Given the description of an element on the screen output the (x, y) to click on. 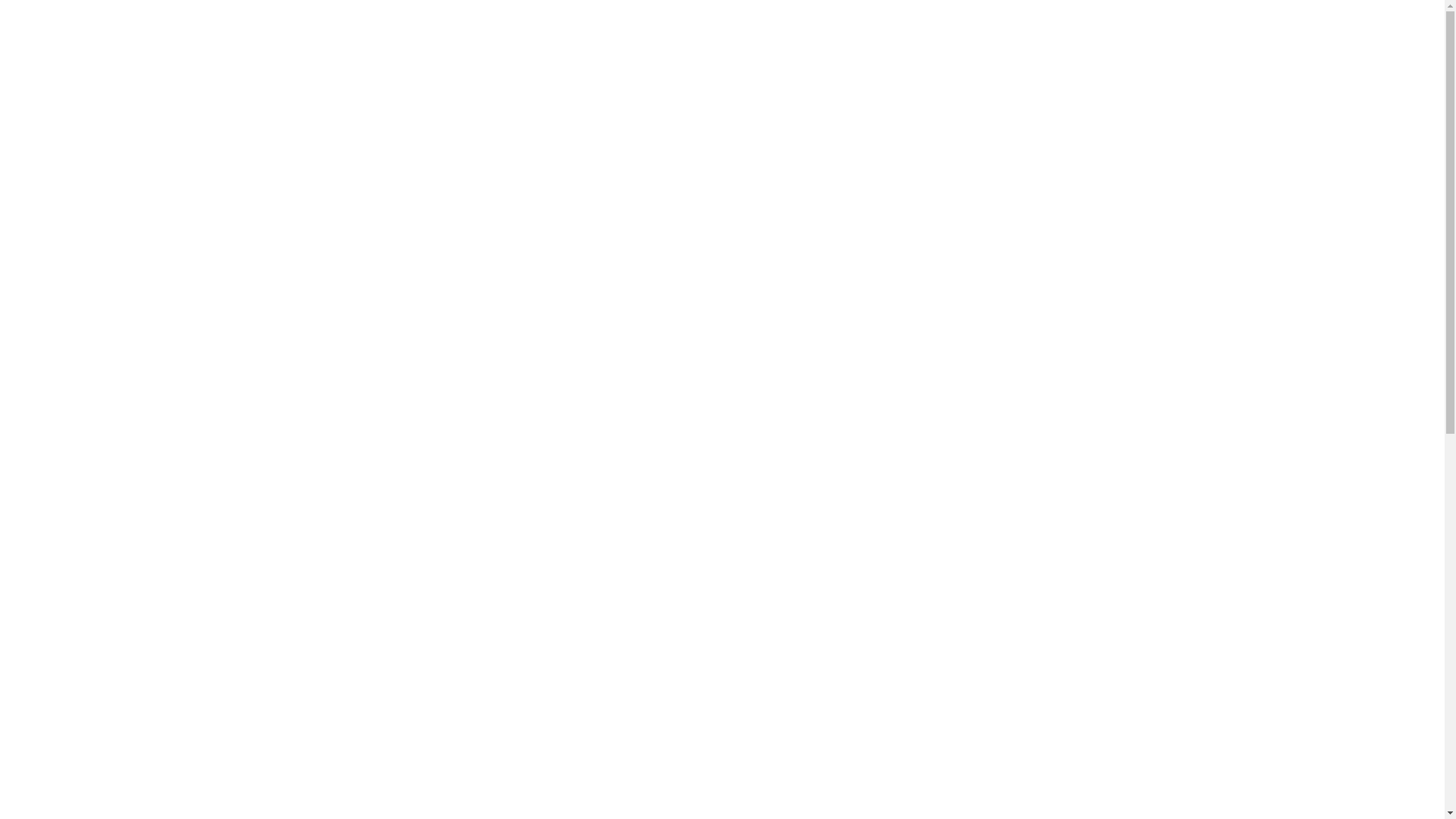
Contacteer ons Element type: text (1345, 31)
Connect Element type: text (918, 204)
Home Element type: text (519, 204)
Direct search specialist Element type: text (722, 204)
Meer over direct search Element type: text (892, 672)
Capital Talent Linkedin Element type: hover (1406, 32)
Ontdek onze ambitie Element type: text (551, 600)
Werkwijze Element type: text (842, 204)
Onze ambitie Element type: text (595, 204)
